Given the description of an element on the screen output the (x, y) to click on. 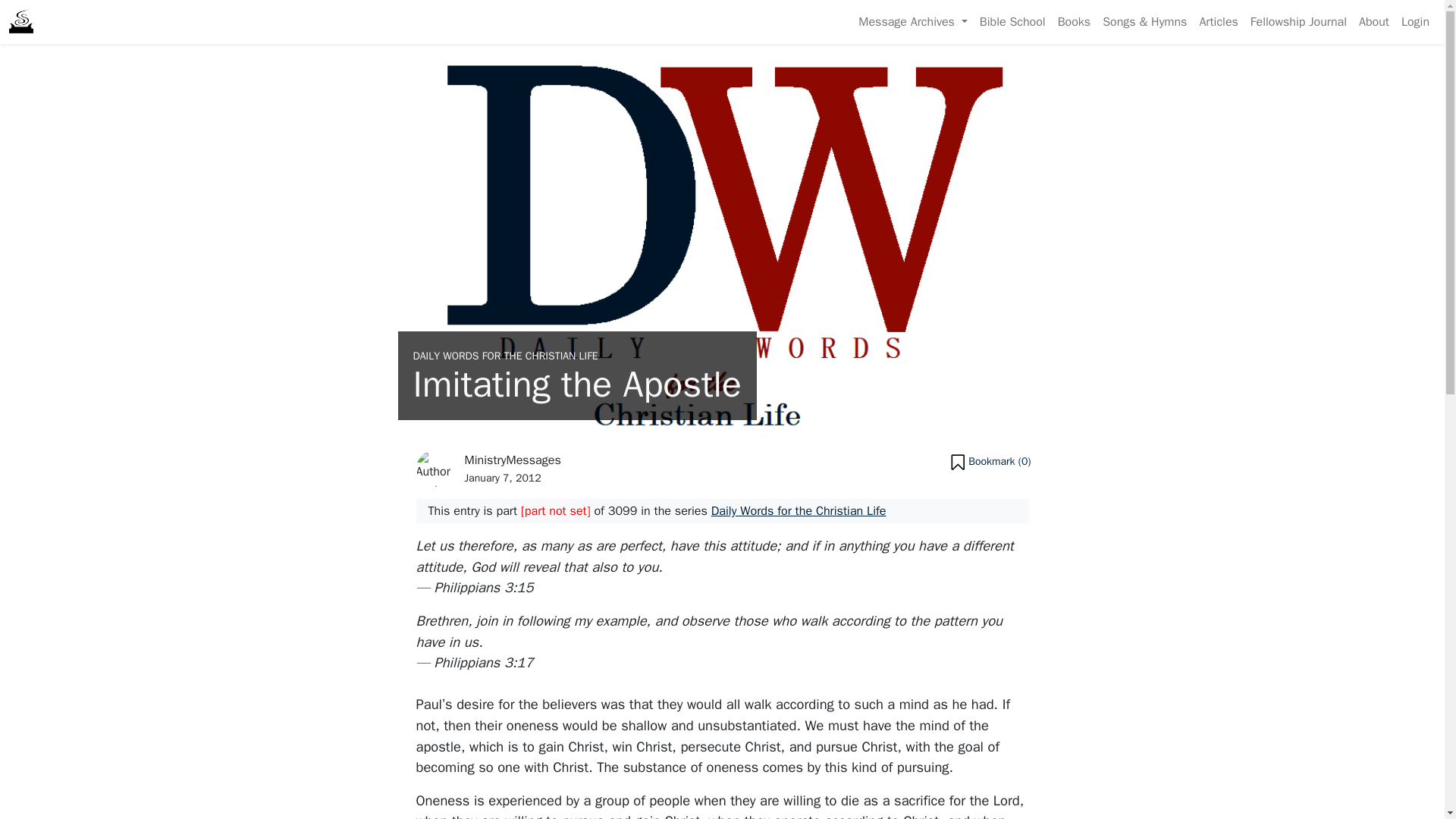
Login (1414, 21)
Bible School (1012, 21)
Books (1073, 21)
DAILY WORDS FOR THE CHRISTIAN LIFE (504, 355)
About (1373, 21)
Bookmark This (989, 462)
Message Archives (911, 21)
Fellowship Journal (1298, 21)
Daily Words for the Christian Life (798, 510)
Articles (1217, 21)
